Given the description of an element on the screen output the (x, y) to click on. 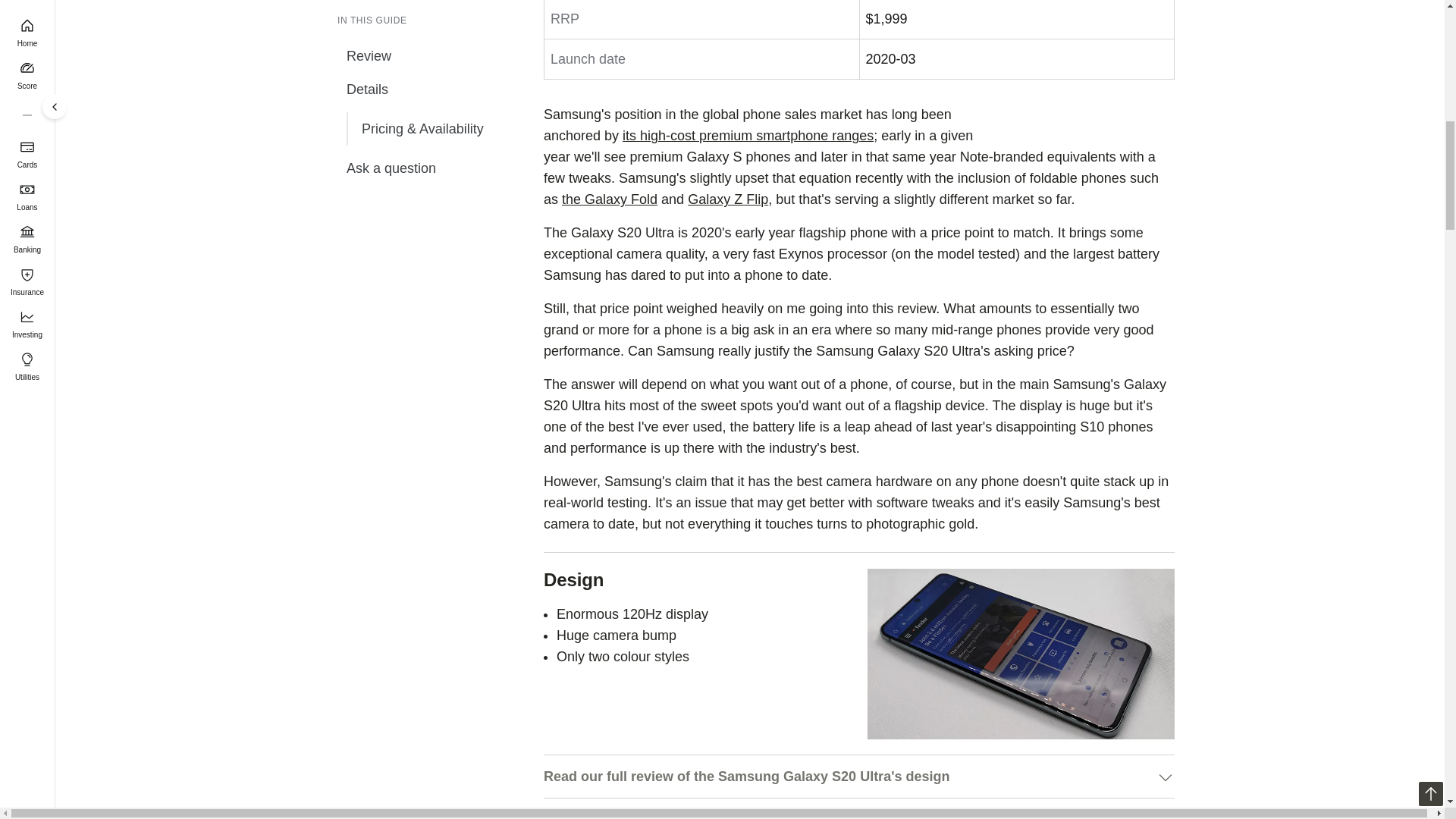
Image: Finder (1020, 653)
